Given the description of an element on the screen output the (x, y) to click on. 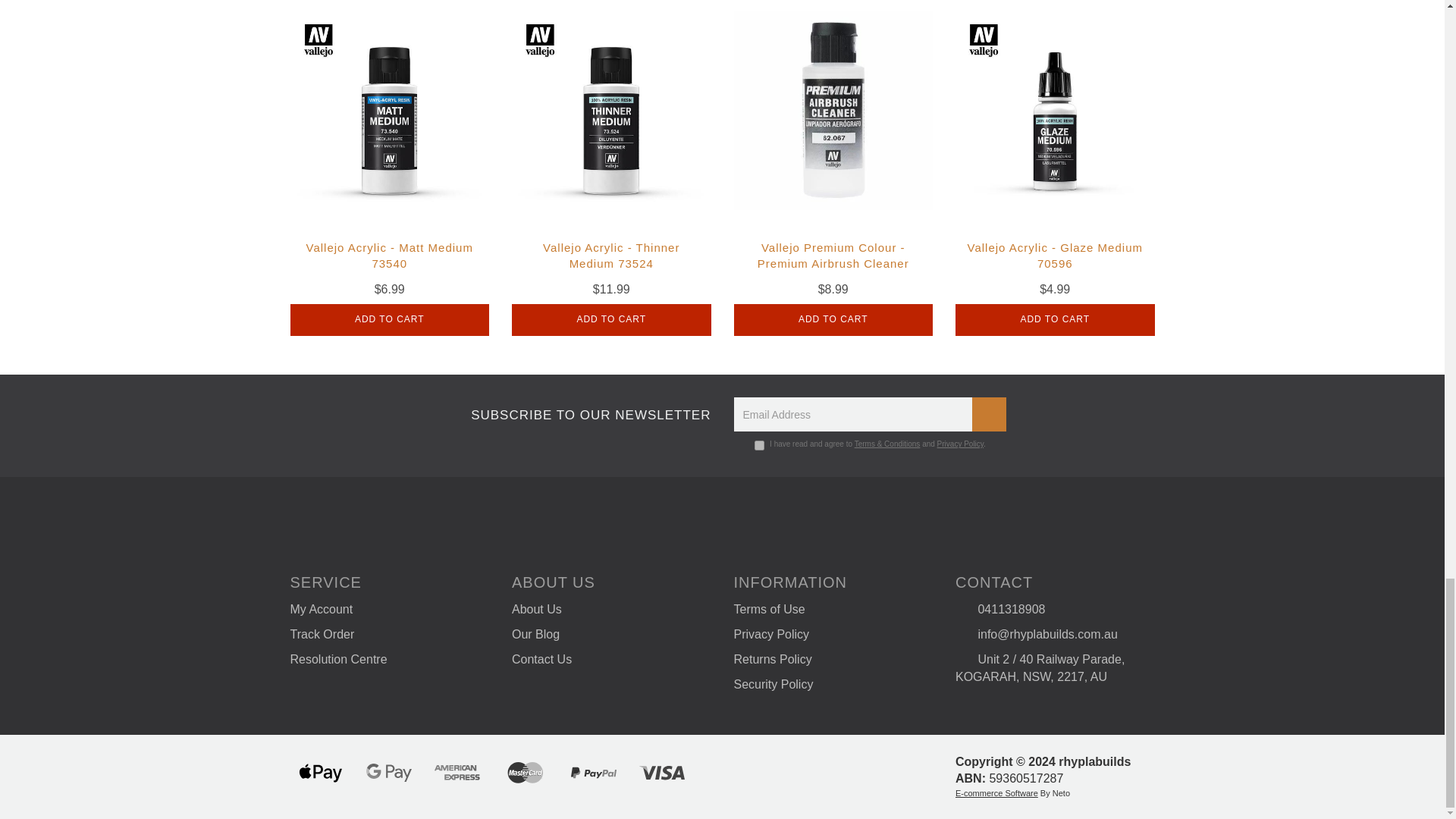
y (759, 445)
Add to Cart (611, 319)
Vallejo Acrylic - Matt Medium 73540 (389, 255)
Add to Cart (389, 319)
Vallejo Acrylic - Thinner Medium 73524 (611, 255)
